Given the description of an element on the screen output the (x, y) to click on. 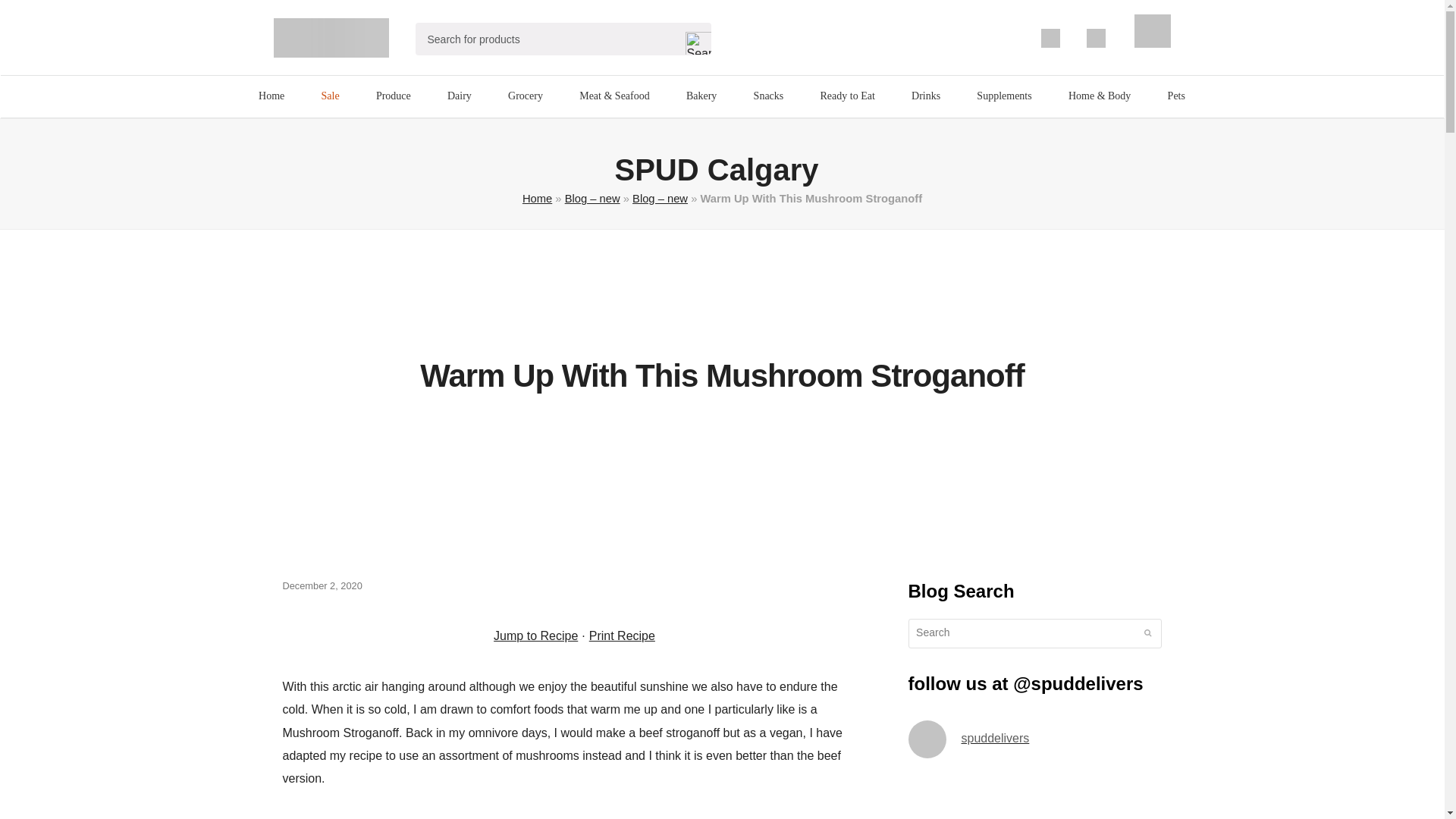
Search (691, 38)
Search (691, 38)
My Account (1050, 37)
Spud.ca (331, 37)
